Given the description of an element on the screen output the (x, y) to click on. 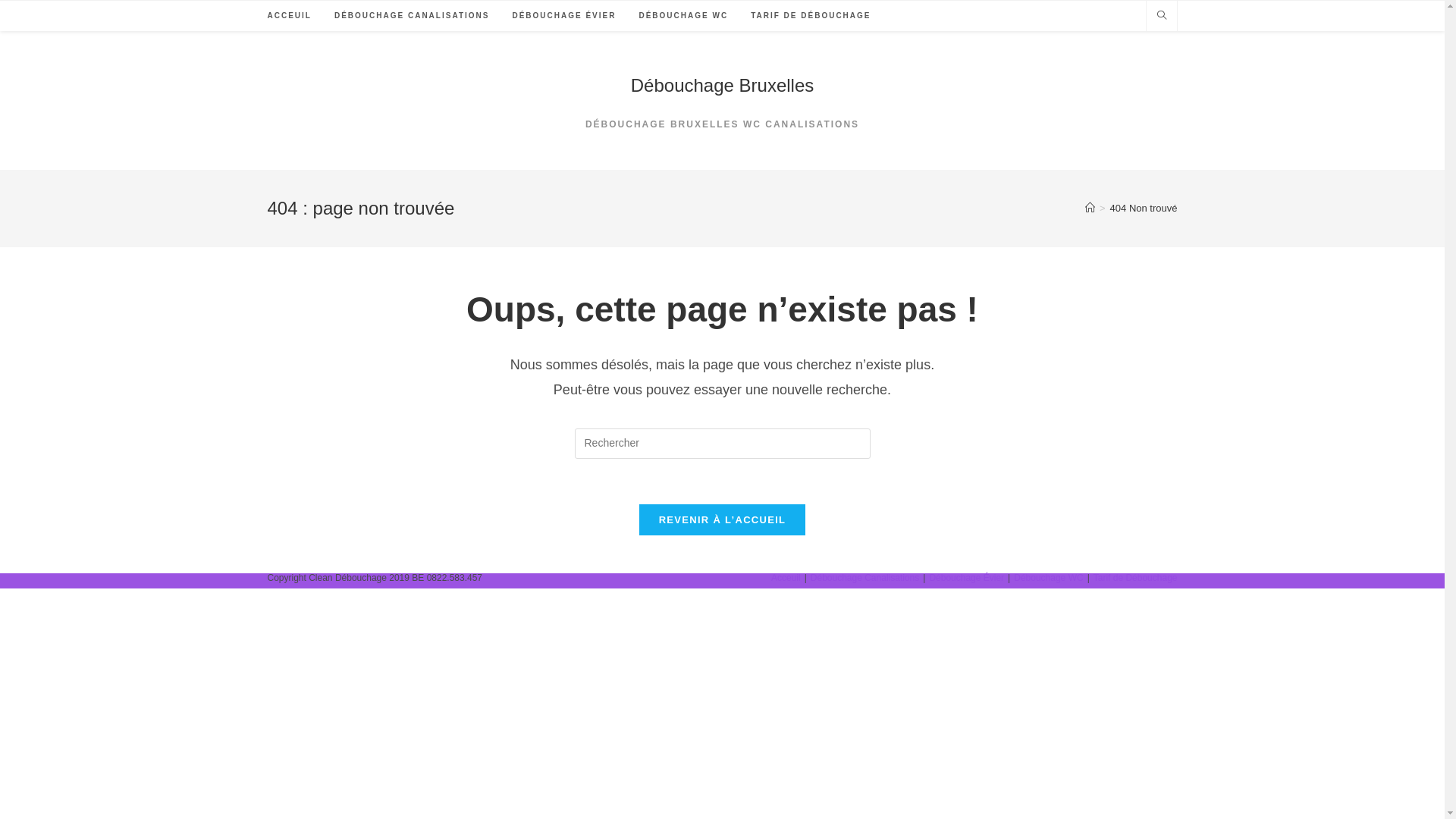
ACCEUIL Element type: text (289, 15)
Acceuil Element type: text (785, 577)
